Given the description of an element on the screen output the (x, y) to click on. 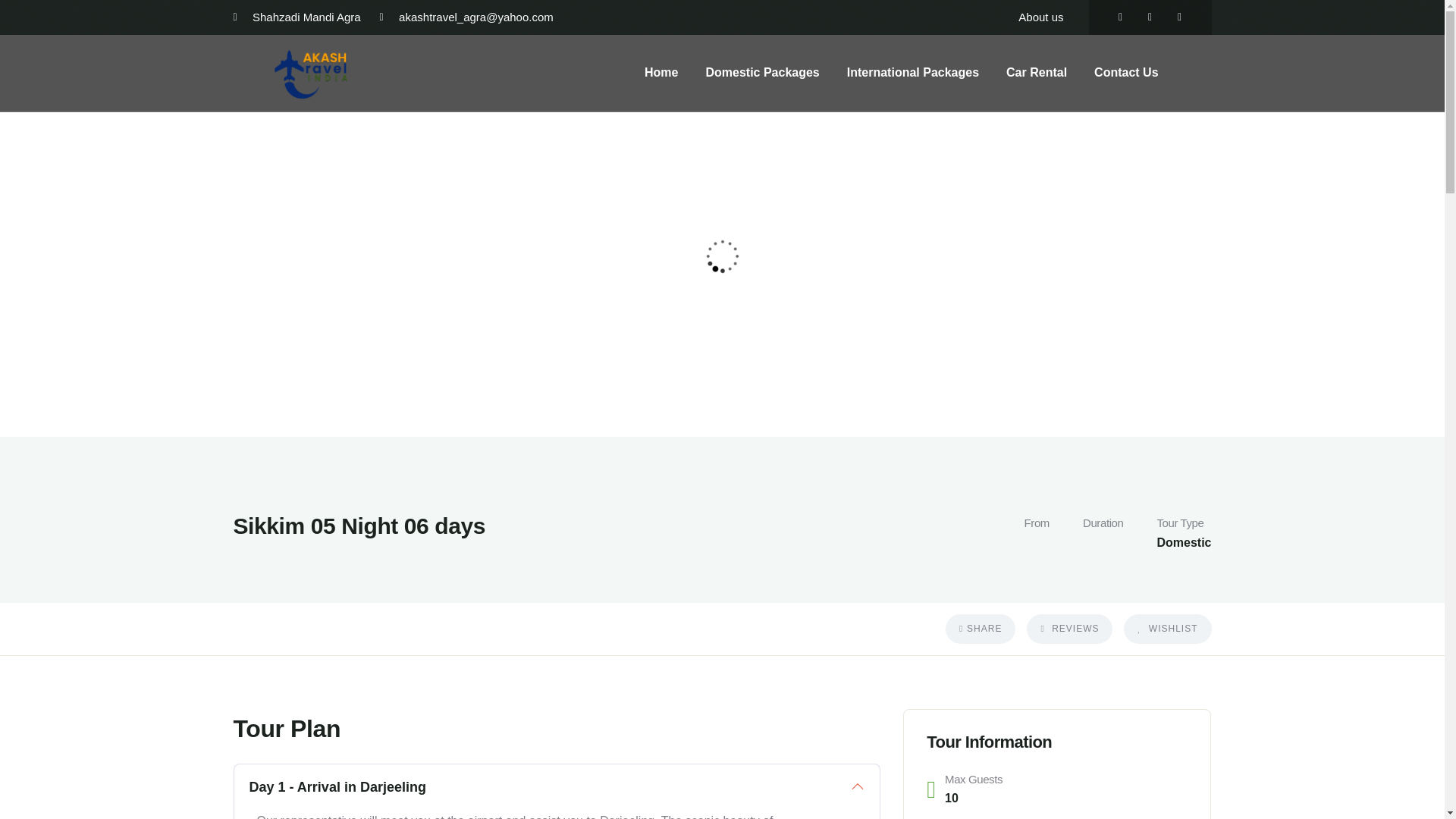
Contact Us (1126, 73)
Car Rental (1036, 73)
Home (311, 73)
WISHLIST (1167, 628)
Domestic (1183, 542)
SHARE (980, 628)
REVIEWS (1069, 628)
Domestic Packages (761, 73)
International Packages (912, 73)
About us (1039, 17)
Day 1 - Arrival in Darjeeling (556, 786)
Wishlist (1167, 628)
